Given the description of an element on the screen output the (x, y) to click on. 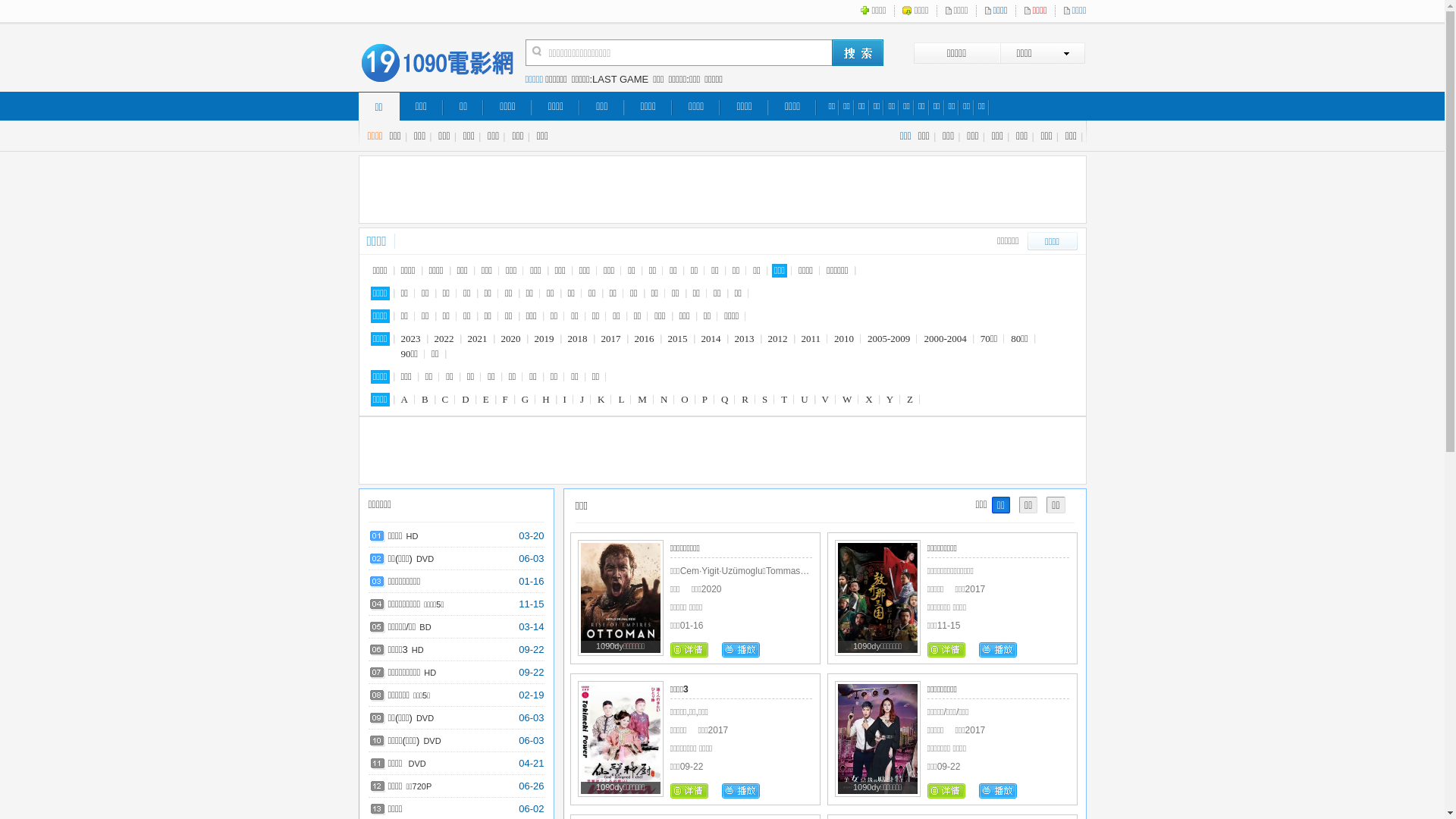
O Element type: text (684, 399)
U Element type: text (803, 399)
2019 Element type: text (544, 338)
E Element type: text (485, 399)
2012 Element type: text (777, 338)
2022 Element type: text (444, 338)
2000-2004 Element type: text (944, 338)
K Element type: text (600, 399)
D Element type: text (464, 399)
V Element type: text (825, 399)
R Element type: text (744, 399)
M Element type: text (642, 399)
2011 Element type: text (811, 338)
N Element type: text (663, 399)
C Element type: text (445, 399)
T Element type: text (783, 399)
B Element type: text (424, 399)
2018 Element type: text (577, 338)
H Element type: text (545, 399)
X Element type: text (868, 399)
Advertisement Element type: hover (727, 190)
2015 Element type: text (677, 338)
L Element type: text (620, 399)
A Element type: text (404, 399)
J Element type: text (581, 399)
W Element type: text (846, 399)
Q Element type: text (724, 399)
P Element type: text (704, 399)
F Element type: text (505, 399)
2013 Element type: text (744, 338)
2014 Element type: text (711, 338)
2010 Element type: text (843, 338)
S Element type: text (764, 399)
2023 Element type: text (410, 338)
2017 Element type: text (611, 338)
I Element type: text (564, 399)
2016 Element type: text (644, 338)
2020 Element type: text (510, 338)
2005-2009 Element type: text (888, 338)
G Element type: text (524, 399)
Z Element type: text (909, 399)
Advertisement Element type: hover (727, 451)
2021 Element type: text (477, 338)
Y Element type: text (889, 399)
